Given the description of an element on the screen output the (x, y) to click on. 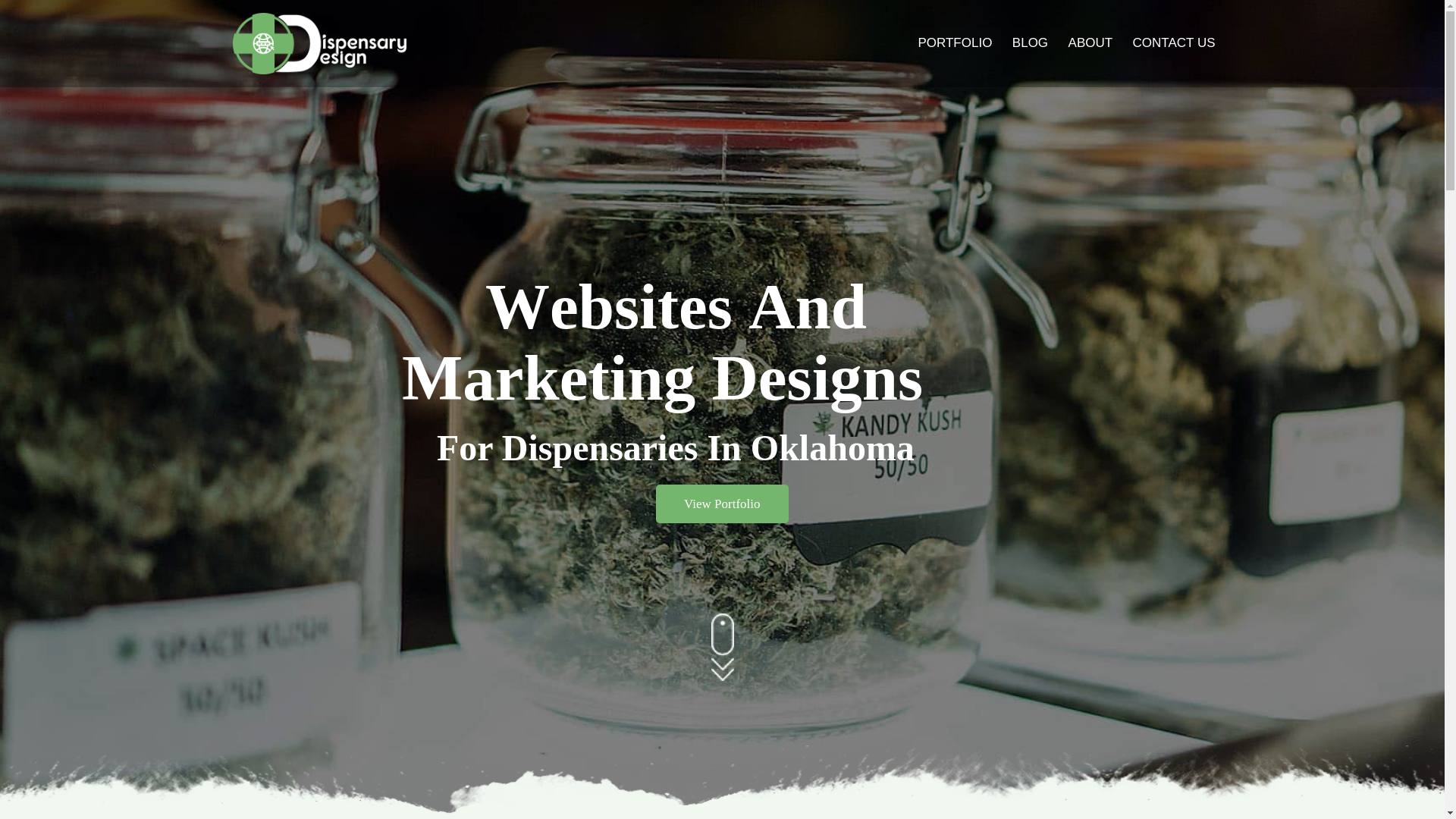
CONTACT US (1173, 61)
ABOUT (1090, 61)
BLOG (1029, 61)
PORTFOLIO (954, 61)
